Given the description of an element on the screen output the (x, y) to click on. 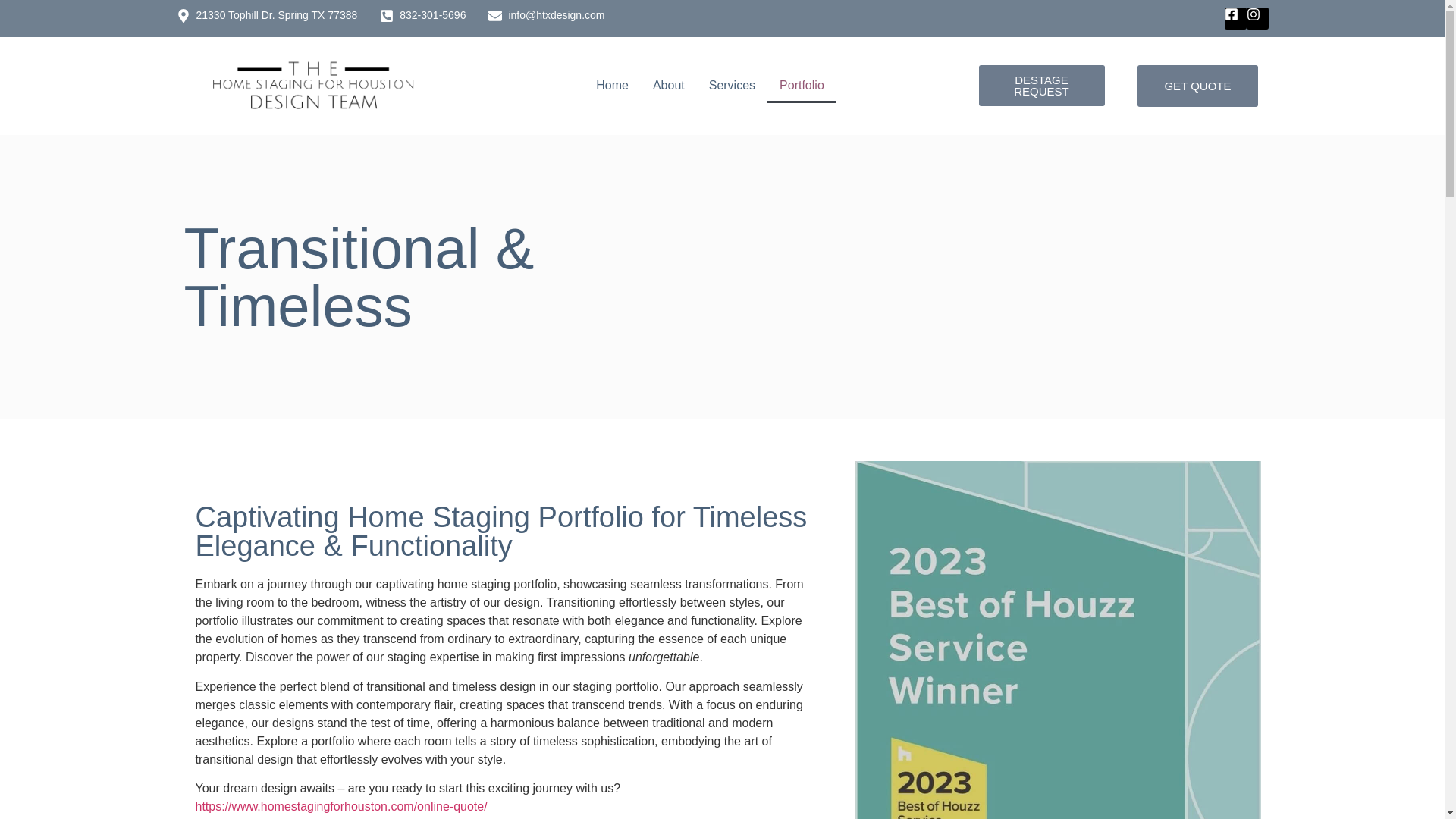
About (668, 85)
Portfolio (801, 85)
832-301-5696 (422, 15)
Services (732, 85)
DESTAGE REQUEST (1040, 85)
GET QUOTE (1197, 86)
21330 Tophill Dr. Spring TX 77388 (266, 15)
Home (611, 85)
